Given the description of an element on the screen output the (x, y) to click on. 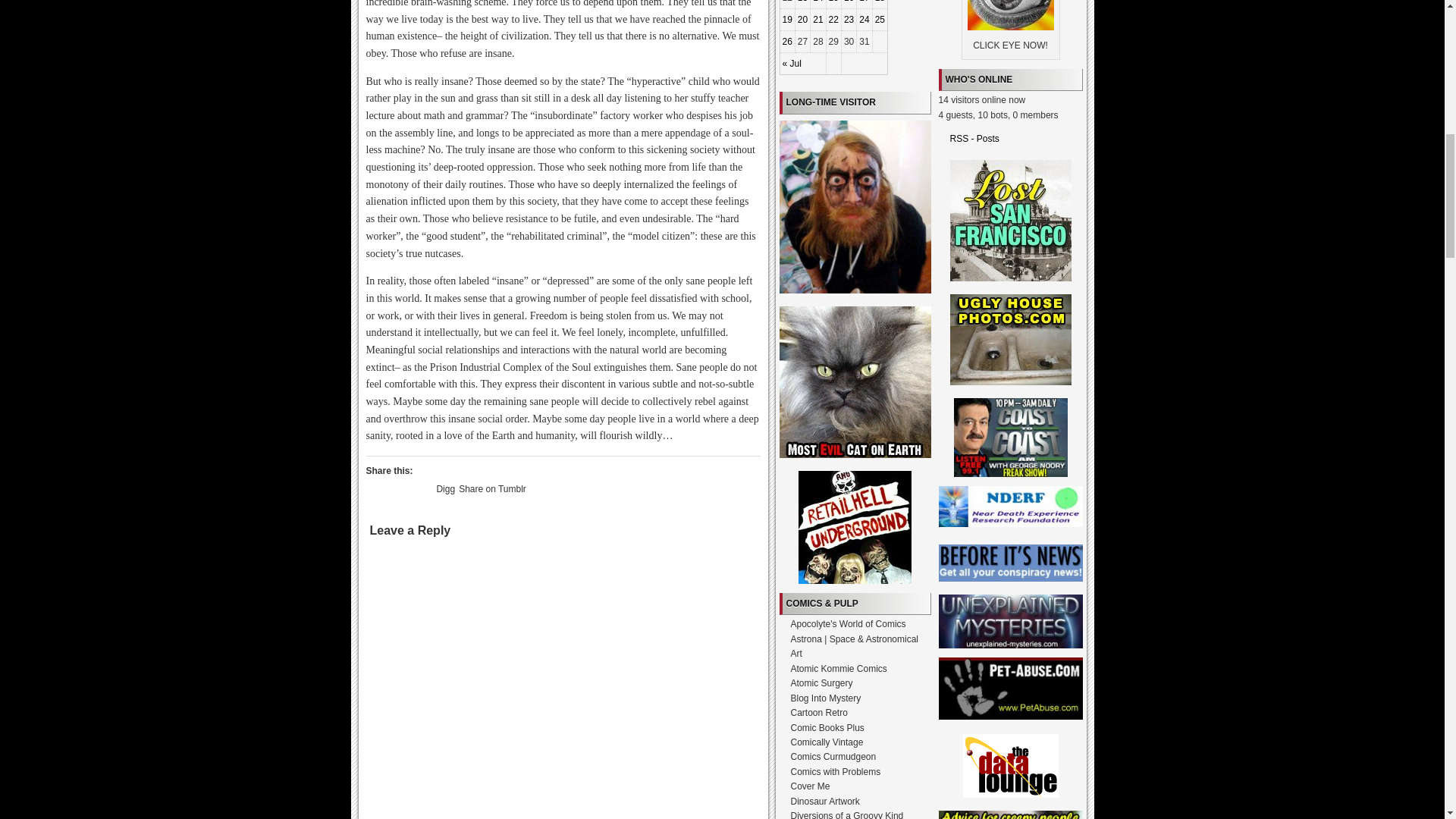
20 (802, 19)
19 (787, 19)
15 (833, 1)
18 (880, 1)
14 (817, 1)
13 (802, 1)
17 (864, 1)
